Given the description of an element on the screen output the (x, y) to click on. 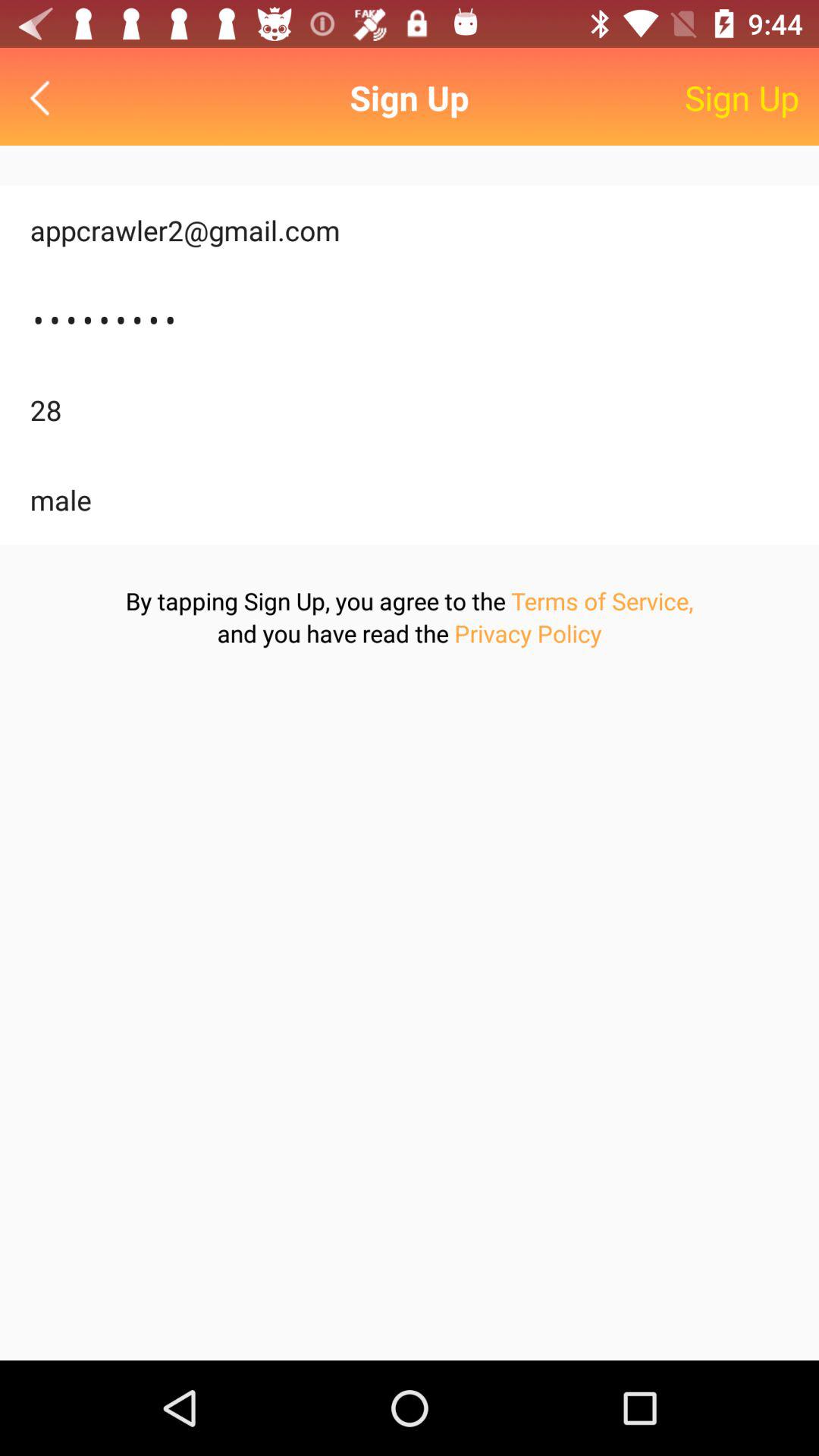
open the privacy policy (527, 633)
